Given the description of an element on the screen output the (x, y) to click on. 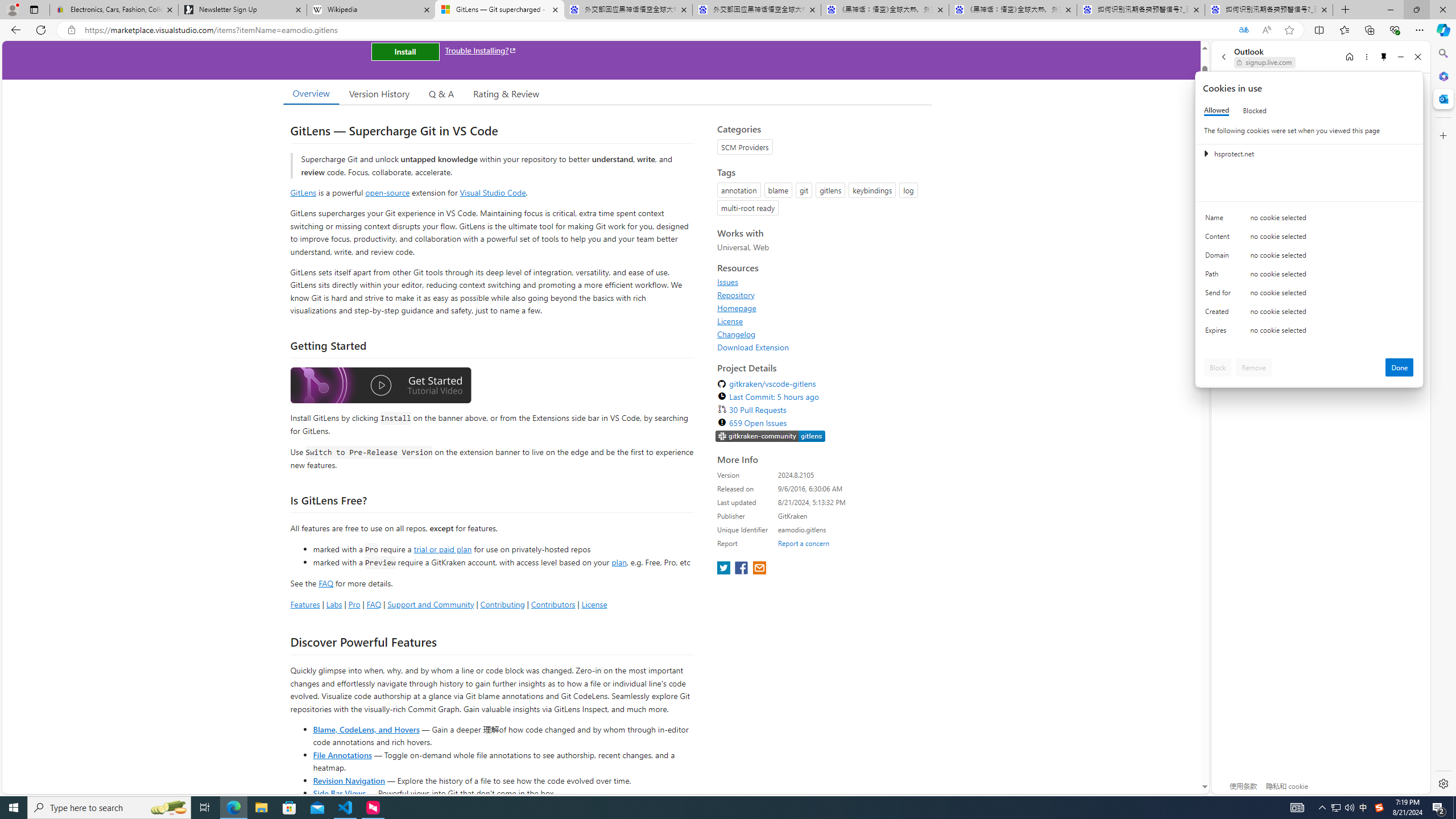
no cookie selected (1331, 332)
Send for (1219, 295)
Blocked (1255, 110)
Name (1219, 220)
Content (1219, 239)
Class: c0153 c0157 c0154 (1309, 220)
Expires (1219, 332)
Domain (1219, 257)
Path (1219, 276)
Block (1217, 367)
Created (1219, 313)
Remove (1253, 367)
Done (1399, 367)
Class: c0153 c0157 (1309, 332)
Allowed (1216, 110)
